Given the description of an element on the screen output the (x, y) to click on. 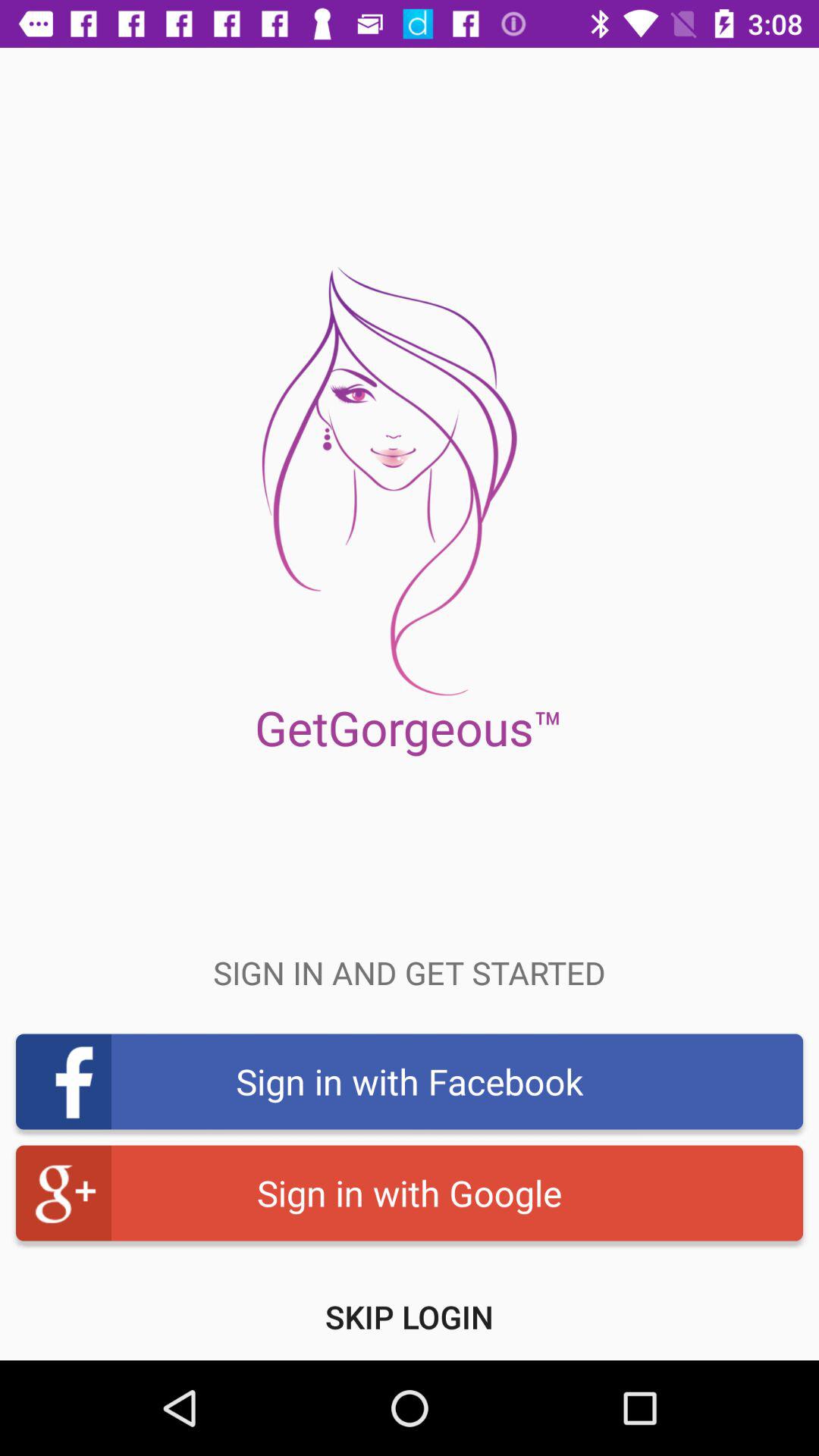
launch skip login button (409, 1316)
